Given the description of an element on the screen output the (x, y) to click on. 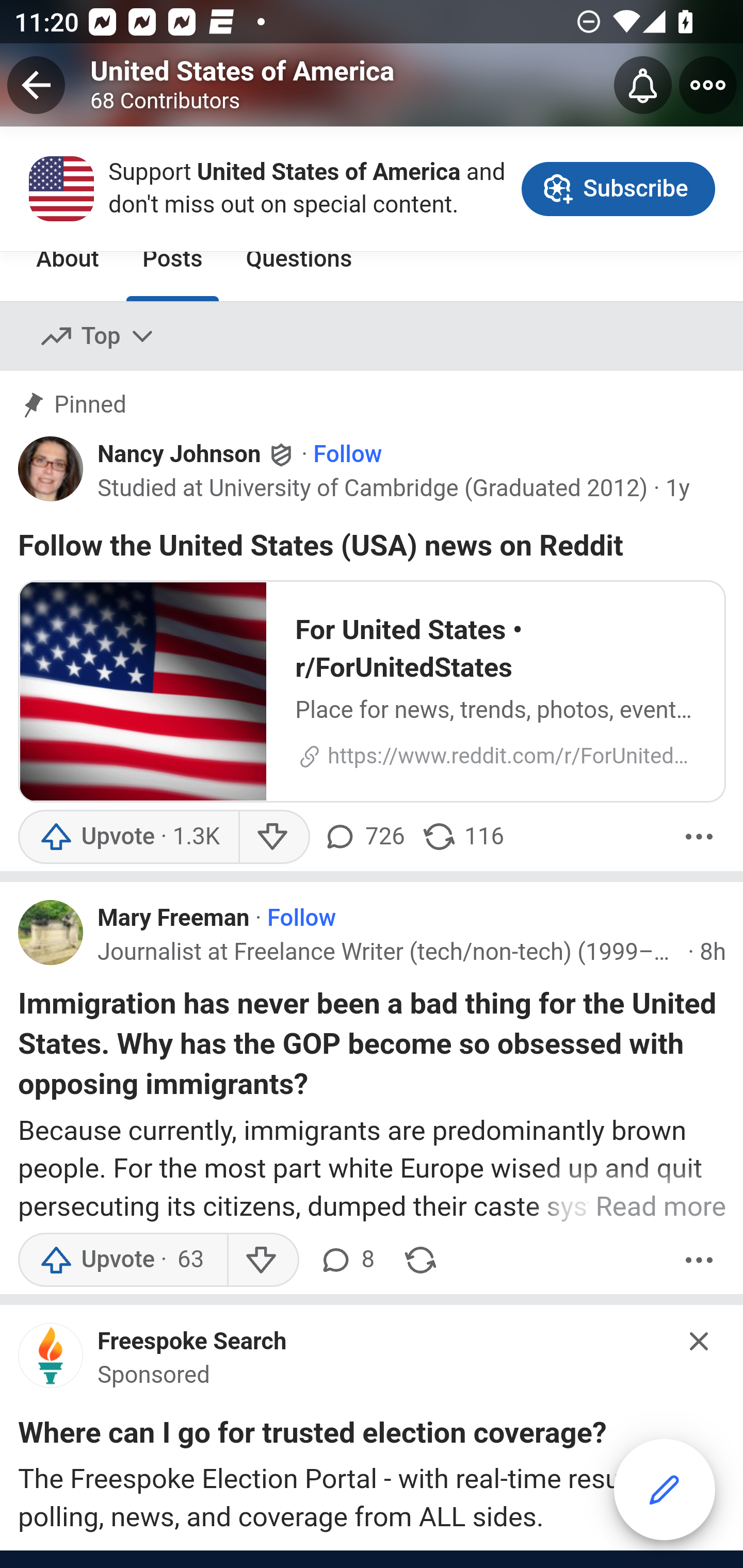
About (68, 260)
Posts (171, 260)
Questions (299, 260)
Top (97, 338)
Profile photo for Nancy Johnson (50, 470)
Nancy Johnson Nancy Johnson   (196, 456)
Follow (347, 457)
Upvote (127, 838)
Downvote (273, 838)
726 comments (365, 838)
116 shares (461, 838)
More (699, 838)
Profile photo for Mary Freeman (50, 933)
Mary Freeman (174, 921)
Follow (302, 921)
Upvote (122, 1261)
Downvote (262, 1261)
8 comments (346, 1261)
Share (420, 1261)
More (699, 1261)
Hide (699, 1341)
main-qimg-784c0b59c1772b60fd46a882711c92a8 (50, 1361)
Freespoke Search (191, 1342)
Sponsored (154, 1377)
Where can I go for trusted election coverage? (312, 1438)
